Given the description of an element on the screen output the (x, y) to click on. 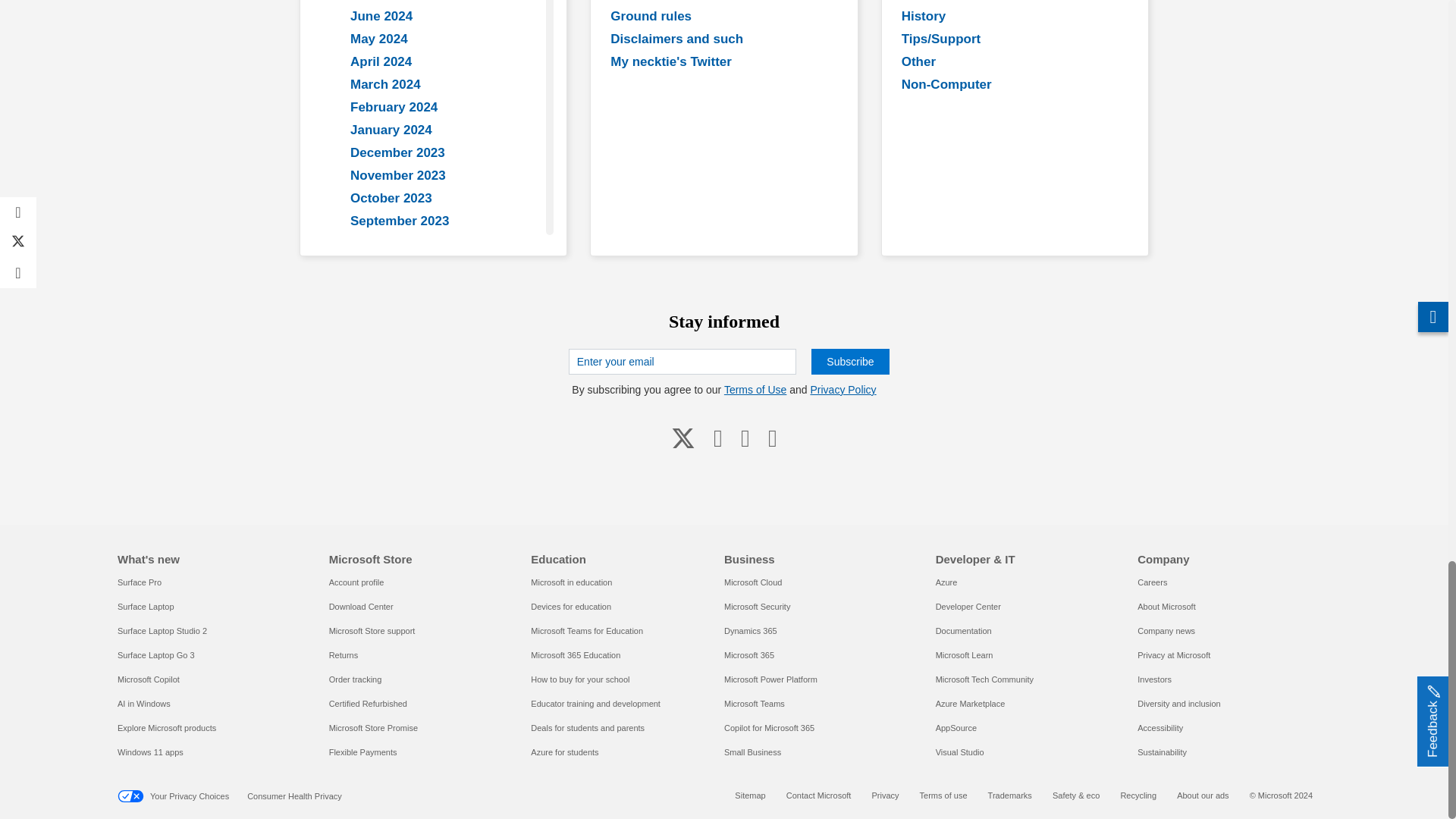
youtube (718, 436)
Subscribe (849, 361)
RSS Feed (772, 436)
twitter (683, 436)
GitHub (745, 436)
